Given the description of an element on the screen output the (x, y) to click on. 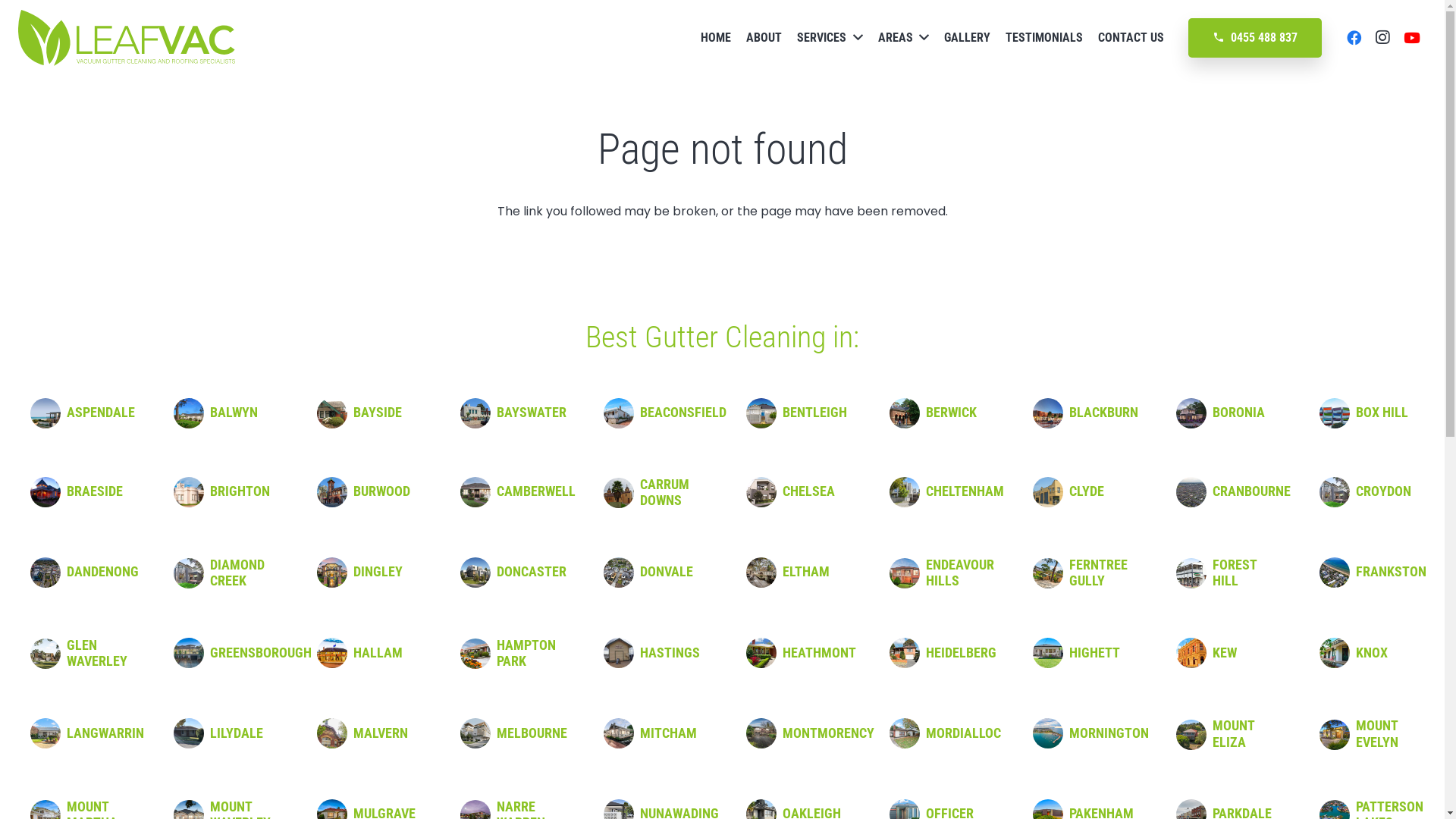
ASPENDALE Element type: text (100, 412)
HAMPTON PARK Element type: text (525, 652)
phone0455 488 837 Element type: text (1254, 37)
ENDEAVOUR HILLS Element type: text (959, 572)
BURWOOD Element type: text (381, 490)
TESTIMONIALS Element type: text (1043, 37)
AREAS Element type: text (903, 37)
LILYDALE Element type: text (236, 732)
CONTACT US Element type: text (1130, 37)
BENTLEIGH Element type: text (814, 412)
KNOX Element type: text (1371, 652)
BRAESIDE Element type: text (94, 490)
Facebook Element type: hover (1353, 37)
GLEN WAVERLEY Element type: text (96, 652)
CHELSEA Element type: text (808, 490)
BORONIA Element type: text (1238, 412)
FRANKSTON Element type: text (1390, 571)
BOX HILL Element type: text (1381, 412)
CLYDE Element type: text (1086, 490)
FOREST HILL Element type: text (1234, 572)
CROYDON Element type: text (1383, 490)
DONCASTER Element type: text (531, 571)
GREENSBOROUGH Element type: text (260, 652)
HIGHETT Element type: text (1094, 652)
MONTMORENCY Element type: text (828, 732)
MALVERN Element type: text (380, 732)
BLACKBURN Element type: text (1103, 412)
BERWICK Element type: text (950, 412)
SERVICES Element type: text (829, 37)
GALLERY Element type: text (966, 37)
DIAMOND CREEK Element type: text (237, 572)
HOME Element type: text (715, 37)
HALLAM Element type: text (377, 652)
CAMBERWELL Element type: text (535, 490)
Instagram Element type: hover (1382, 37)
LANGWARRIN Element type: text (105, 732)
DANDENONG Element type: text (102, 571)
MORNINGTON Element type: text (1108, 732)
YouTube Element type: hover (1411, 37)
HASTINGS Element type: text (669, 652)
MORDIALLOC Element type: text (963, 732)
BAYSWATER Element type: text (531, 412)
KEW Element type: text (1224, 652)
MELBOURNE Element type: text (531, 732)
DONVALE Element type: text (666, 571)
BAYSIDE Element type: text (377, 412)
FERNTREE GULLY Element type: text (1098, 572)
MOUNT ELIZA Element type: text (1233, 733)
MITCHAM Element type: text (668, 732)
CRANBOURNE Element type: text (1251, 490)
BEACONSFIELD Element type: text (683, 412)
DINGLEY Element type: text (377, 571)
CHELTENHAM Element type: text (964, 490)
HEIDELBERG Element type: text (960, 652)
ABOUT Element type: text (763, 37)
BRIGHTON Element type: text (239, 490)
BALWYN Element type: text (233, 412)
CARRUM DOWNS Element type: text (664, 492)
HEATHMONT Element type: text (819, 652)
ELTHAM Element type: text (805, 571)
MOUNT EVELYN Element type: text (1376, 733)
